Given the description of an element on the screen output the (x, y) to click on. 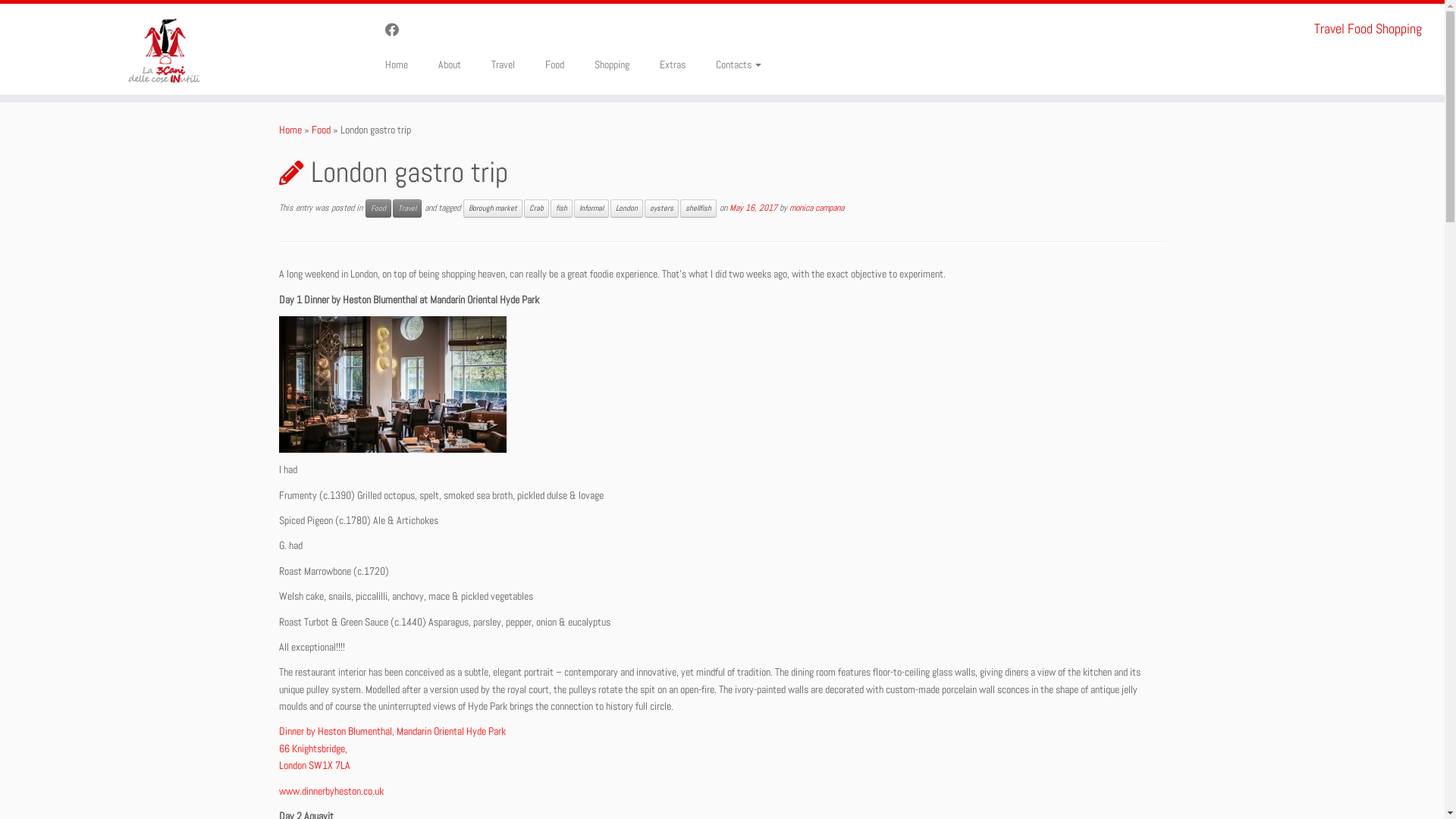
Food Element type: text (319, 129)
monica campana Element type: text (815, 207)
Borough market Element type: text (491, 208)
oysters Element type: text (661, 208)
Shopping Element type: text (611, 64)
Travel Element type: text (406, 208)
Travel Element type: text (503, 64)
Food Element type: text (554, 64)
Follow me on Facebook Element type: hover (396, 29)
Extras Element type: text (672, 64)
London Element type: text (625, 208)
About Element type: text (449, 64)
Retouched-DBH-7 Element type: hover (392, 383)
Informal Element type: text (590, 208)
Home Element type: text (290, 129)
fish Element type: text (561, 208)
Food Element type: text (378, 208)
May 16, 2017 Element type: text (753, 207)
Crab Element type: text (535, 208)
Home Element type: text (402, 64)
shellfish Element type: text (697, 208)
Contacts Element type: text (730, 64)
